Given the description of an element on the screen output the (x, y) to click on. 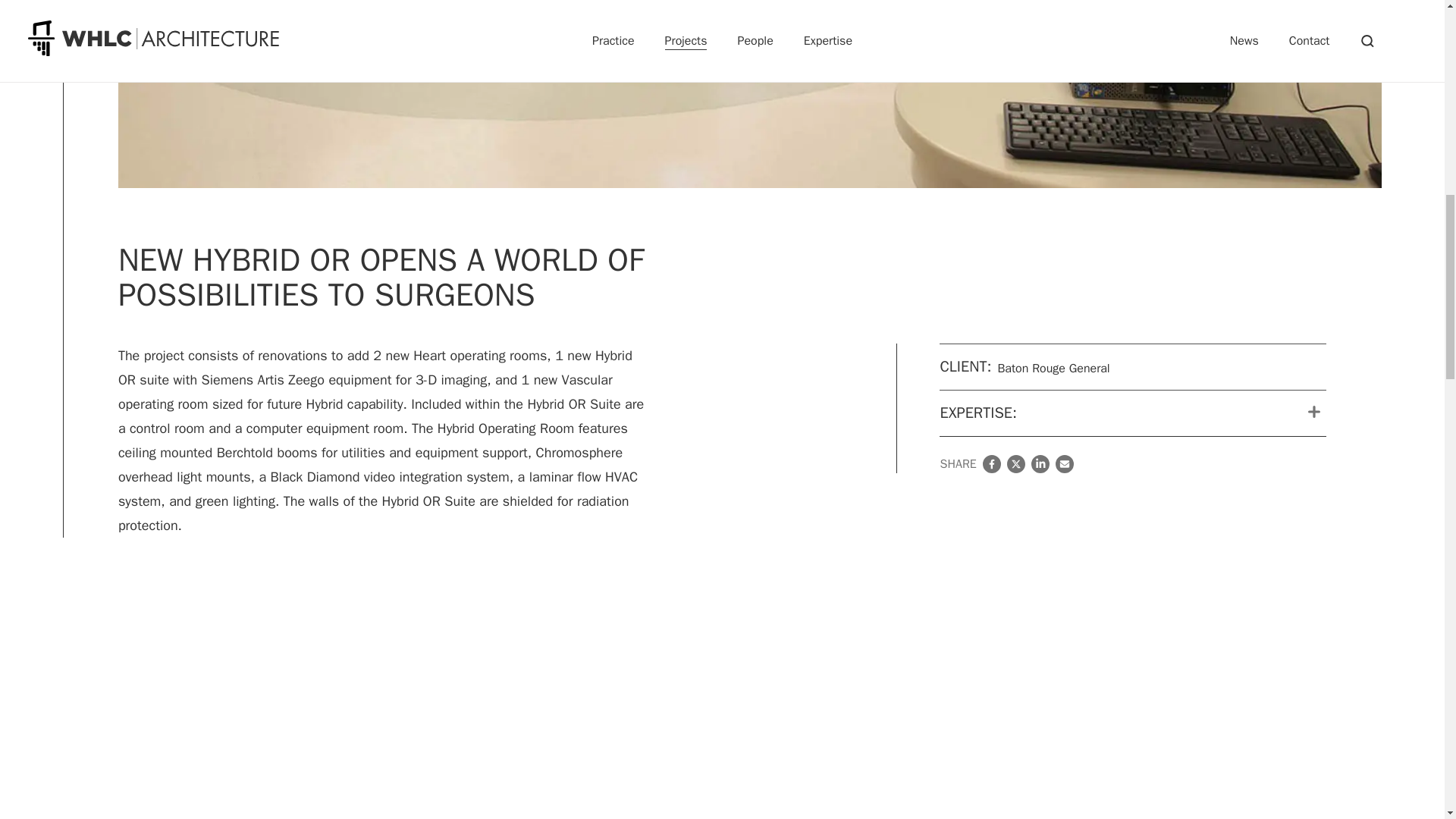
Baton Rouge General (58, 28)
Healthcare (62, 126)
Planning (58, 140)
